Given the description of an element on the screen output the (x, y) to click on. 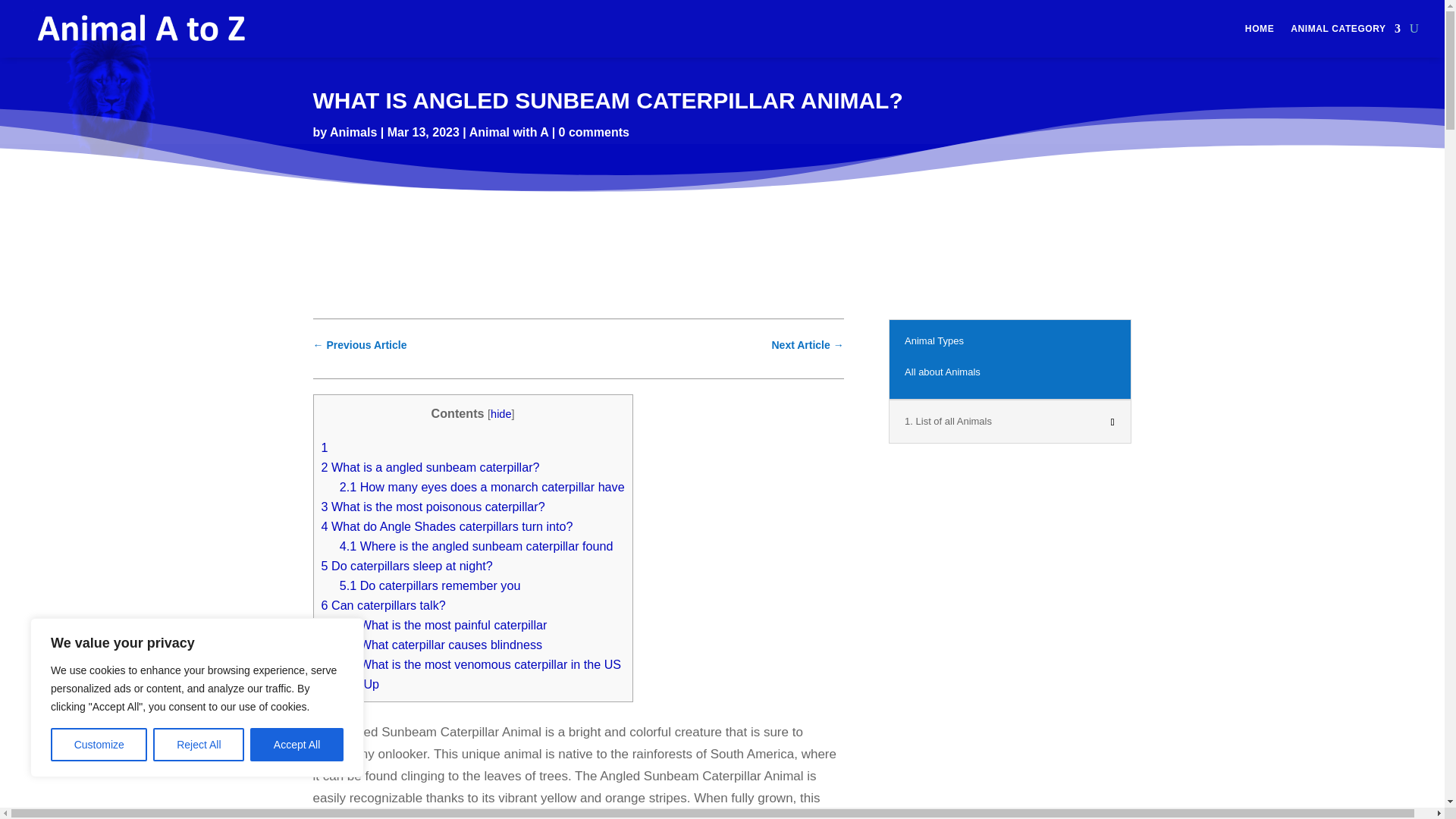
Reject All (198, 744)
ANIMAL CATEGORY (1345, 28)
Customize (98, 744)
Accept All (296, 744)
Posts by Animals (353, 132)
